Given the description of an element on the screen output the (x, y) to click on. 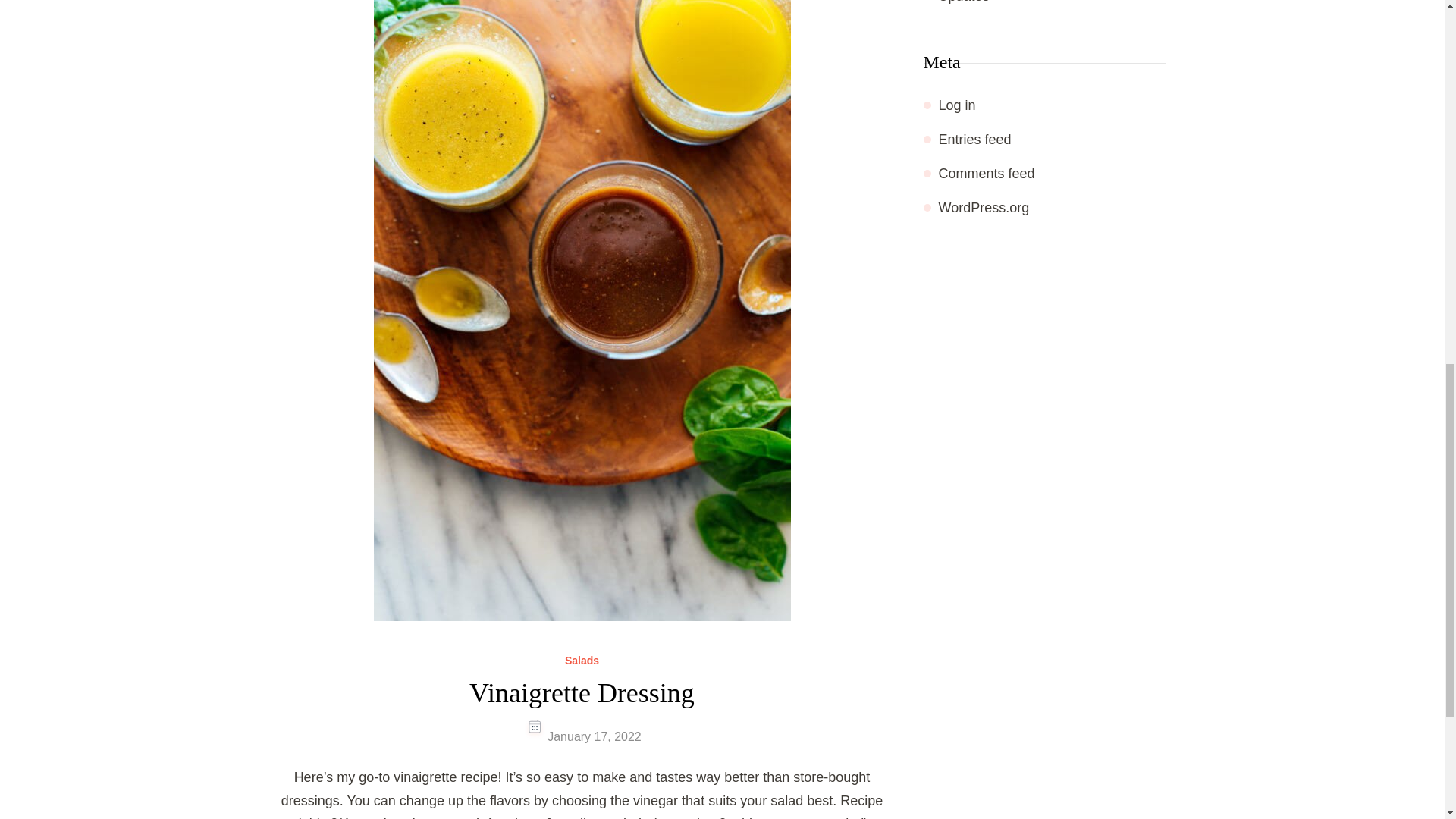
Log in (957, 105)
WordPress.org (984, 207)
January 17, 2022 (594, 736)
Vinaigrette Dressing (581, 693)
Comments feed (987, 173)
Salads (581, 660)
Entries feed (975, 139)
Updates (964, 2)
